Given the description of an element on the screen output the (x, y) to click on. 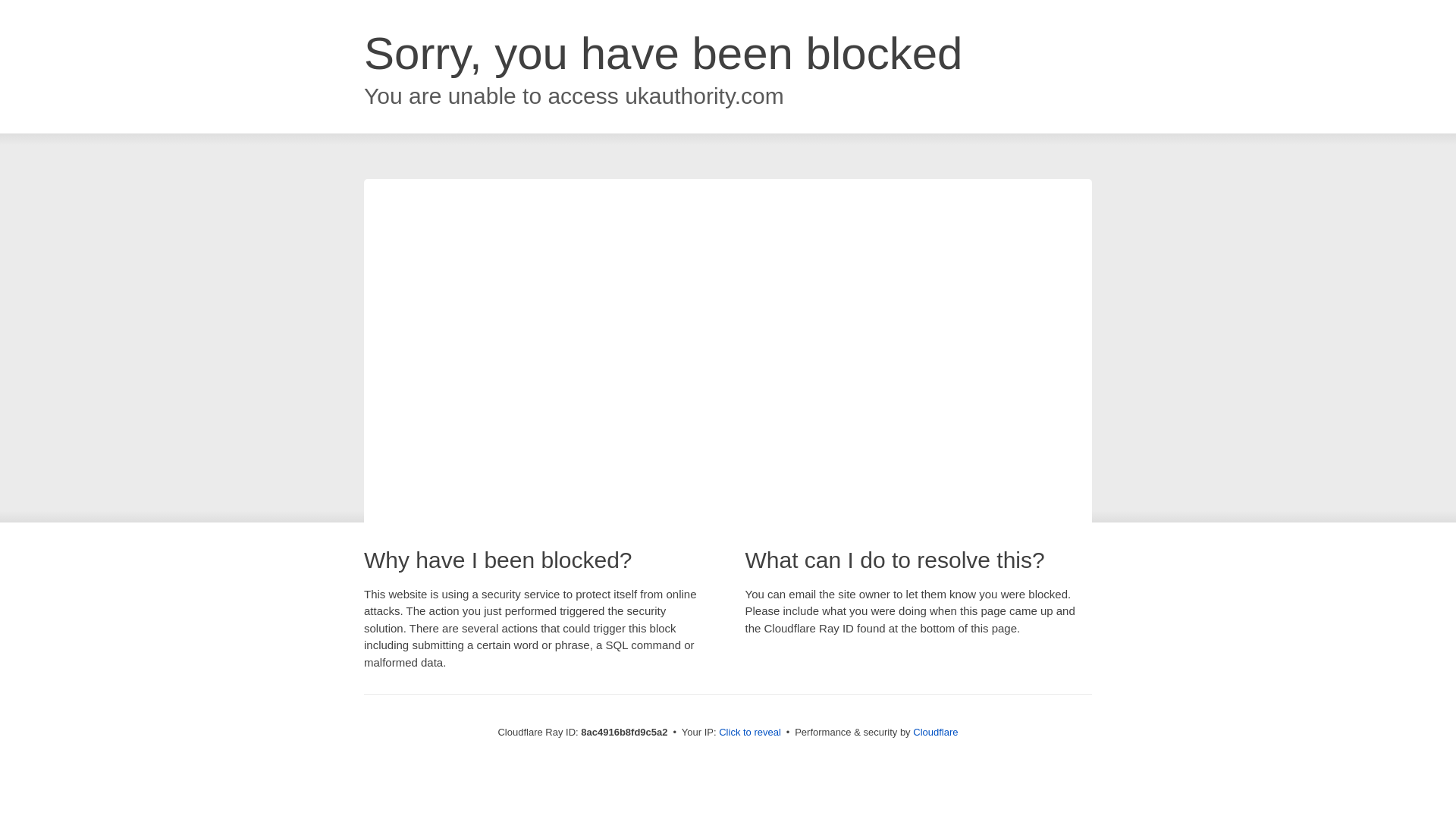
Cloudflare (935, 731)
Click to reveal (749, 732)
